Given the description of an element on the screen output the (x, y) to click on. 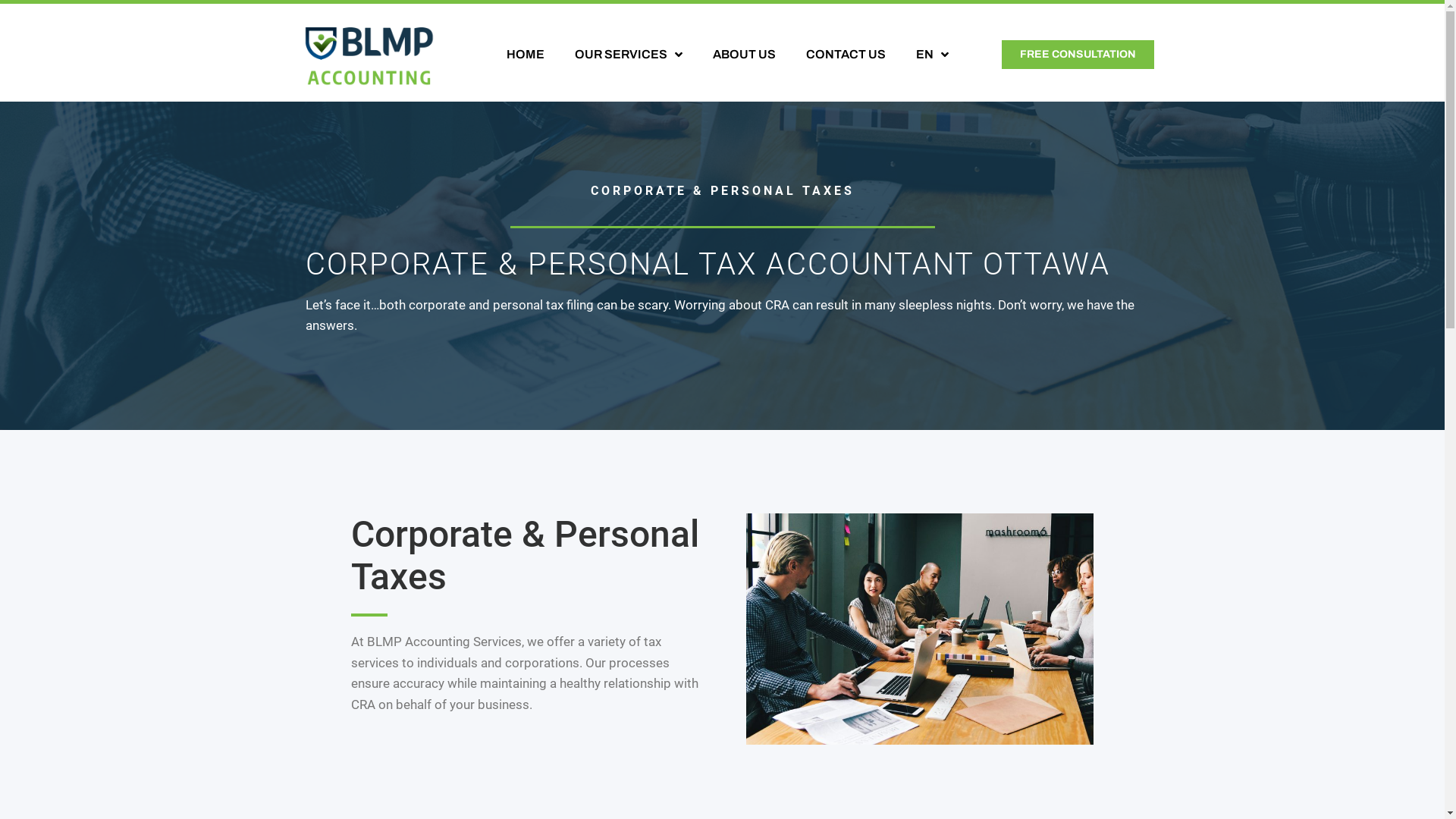
ABOUT US Element type: text (743, 54)
FREE CONSULTATION Element type: text (1077, 54)
EN Element type: text (931, 54)
OUR SERVICES Element type: text (628, 54)
HOME Element type: text (525, 54)
07-home.jpg Element type: hover (919, 628)
CONTACT US Element type: text (845, 54)
